Given the description of an element on the screen output the (x, y) to click on. 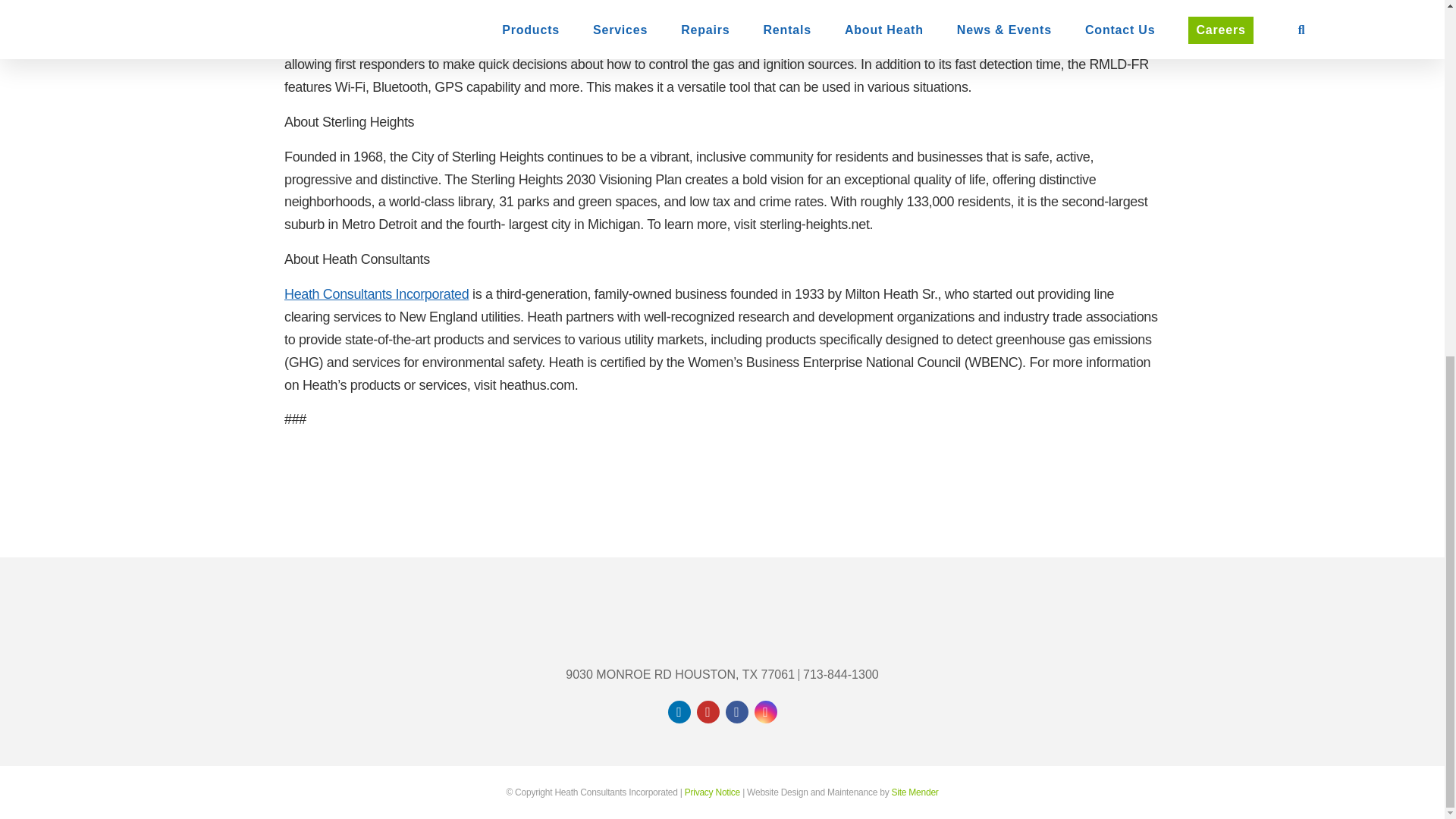
713-844-1300 (839, 674)
Heath Consultants Incorporated (375, 294)
Privacy Notice (711, 792)
Site Mender (915, 792)
9030 MONROE RD HOUSTON, TX 77061 (679, 674)
